Given the description of an element on the screen output the (x, y) to click on. 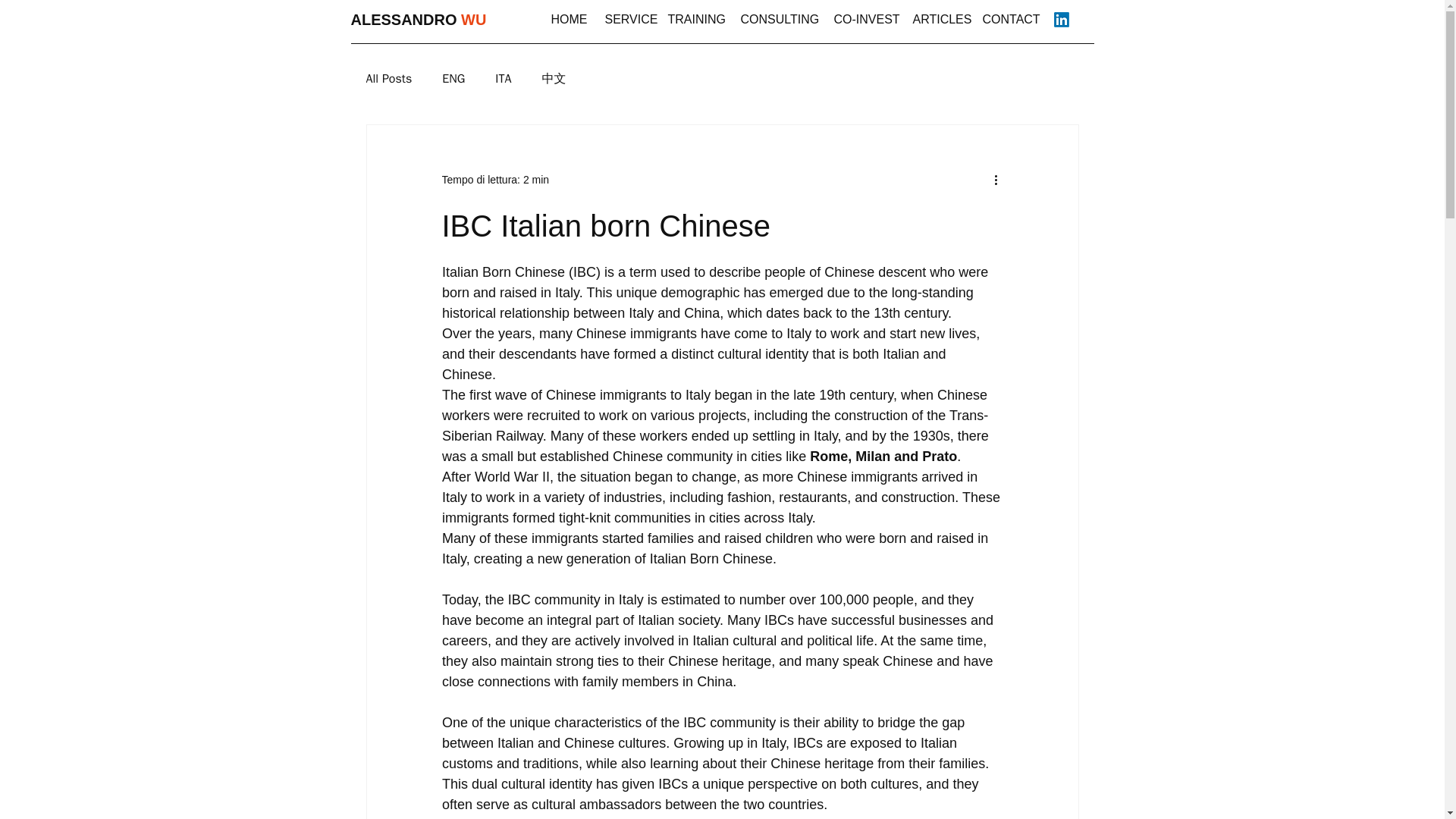
CONTACT (1011, 19)
HOME (569, 19)
All Posts (388, 78)
WU (473, 19)
ITA (503, 78)
ALESSANDRO (403, 19)
ENG (453, 78)
Tempo di lettura: 2 min (494, 178)
ARTICLES (940, 19)
